Given the description of an element on the screen output the (x, y) to click on. 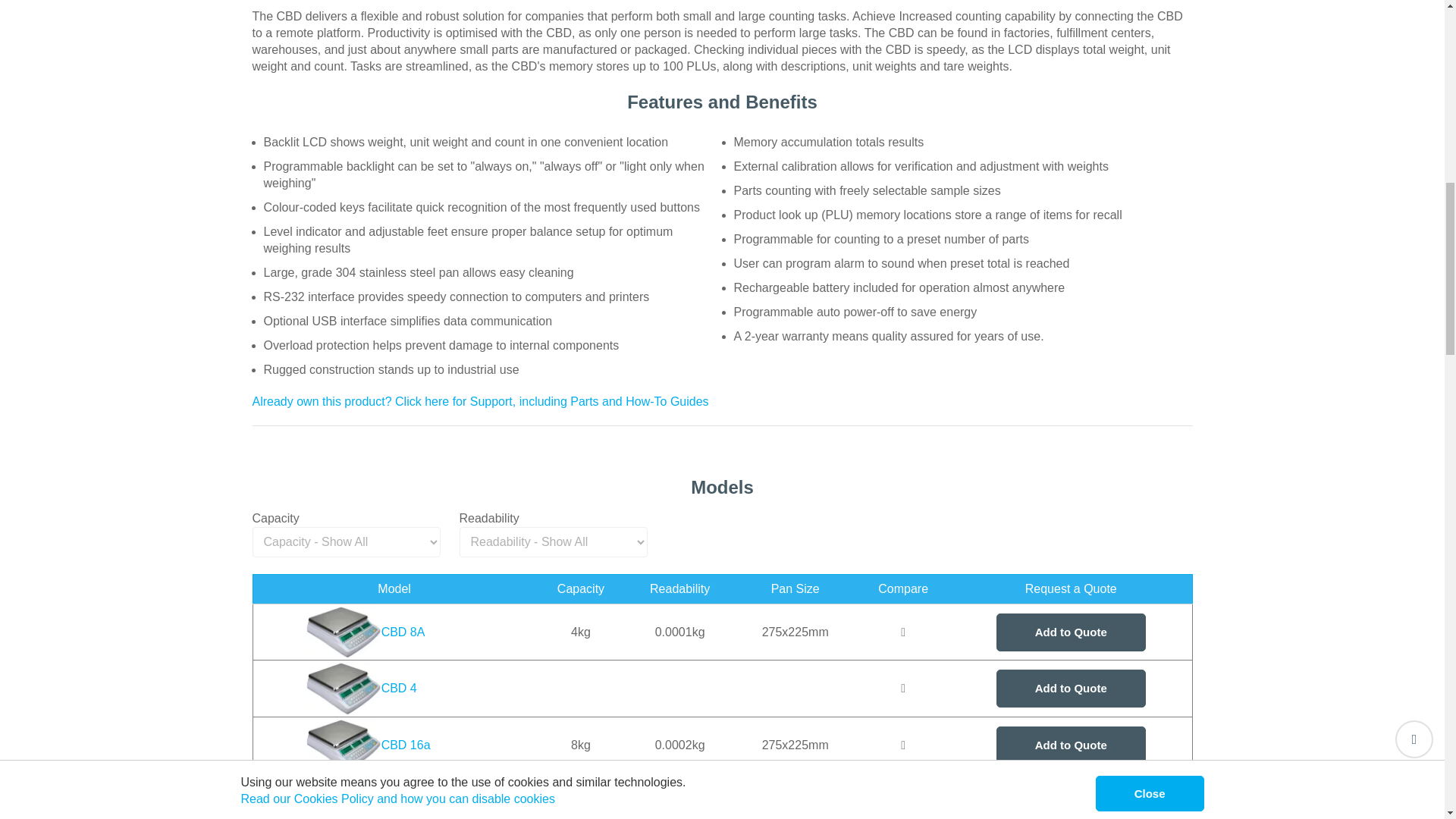
Add to Quote (1070, 688)
Add to Quote (1070, 800)
Add to Quote (1070, 745)
Add to Quote (1070, 631)
